Given the description of an element on the screen output the (x, y) to click on. 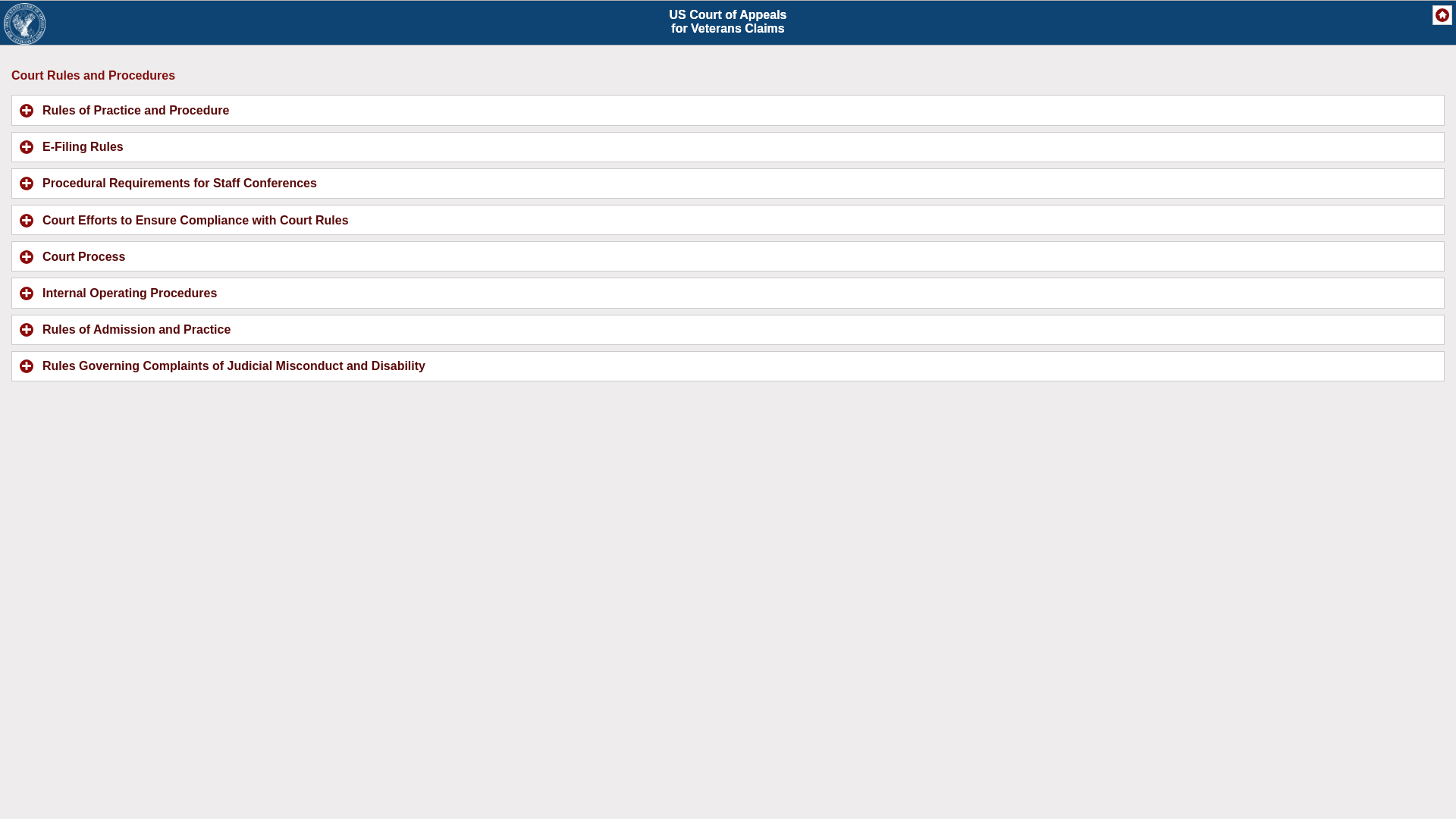
Home (727, 292)
